Given the description of an element on the screen output the (x, y) to click on. 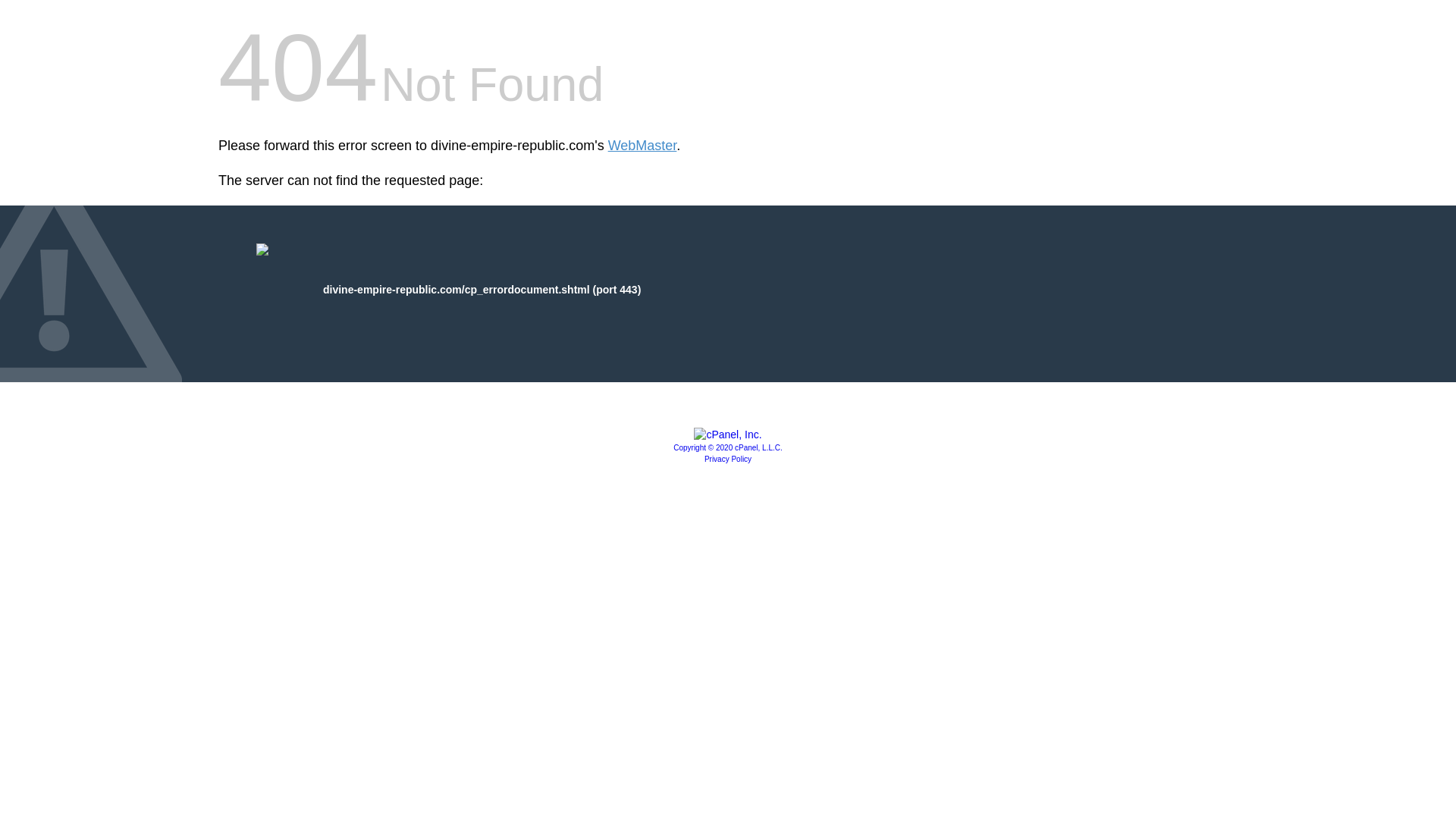
WebMaster (642, 145)
cPanel, Inc. (727, 434)
Privacy Policy (727, 459)
cPanel, Inc. (727, 447)
